Given the description of an element on the screen output the (x, y) to click on. 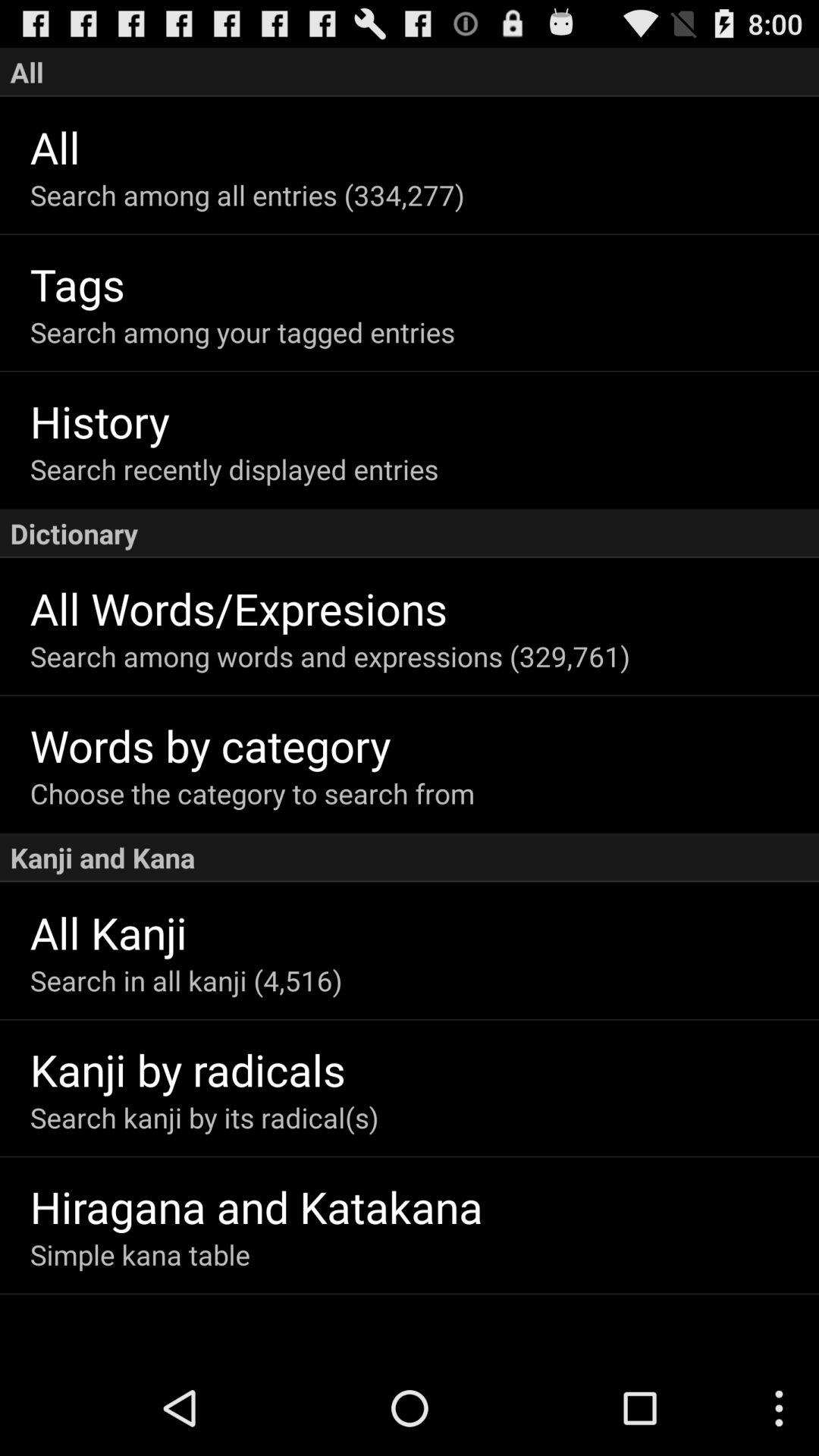
jump until all words/expresions icon (424, 607)
